Given the description of an element on the screen output the (x, y) to click on. 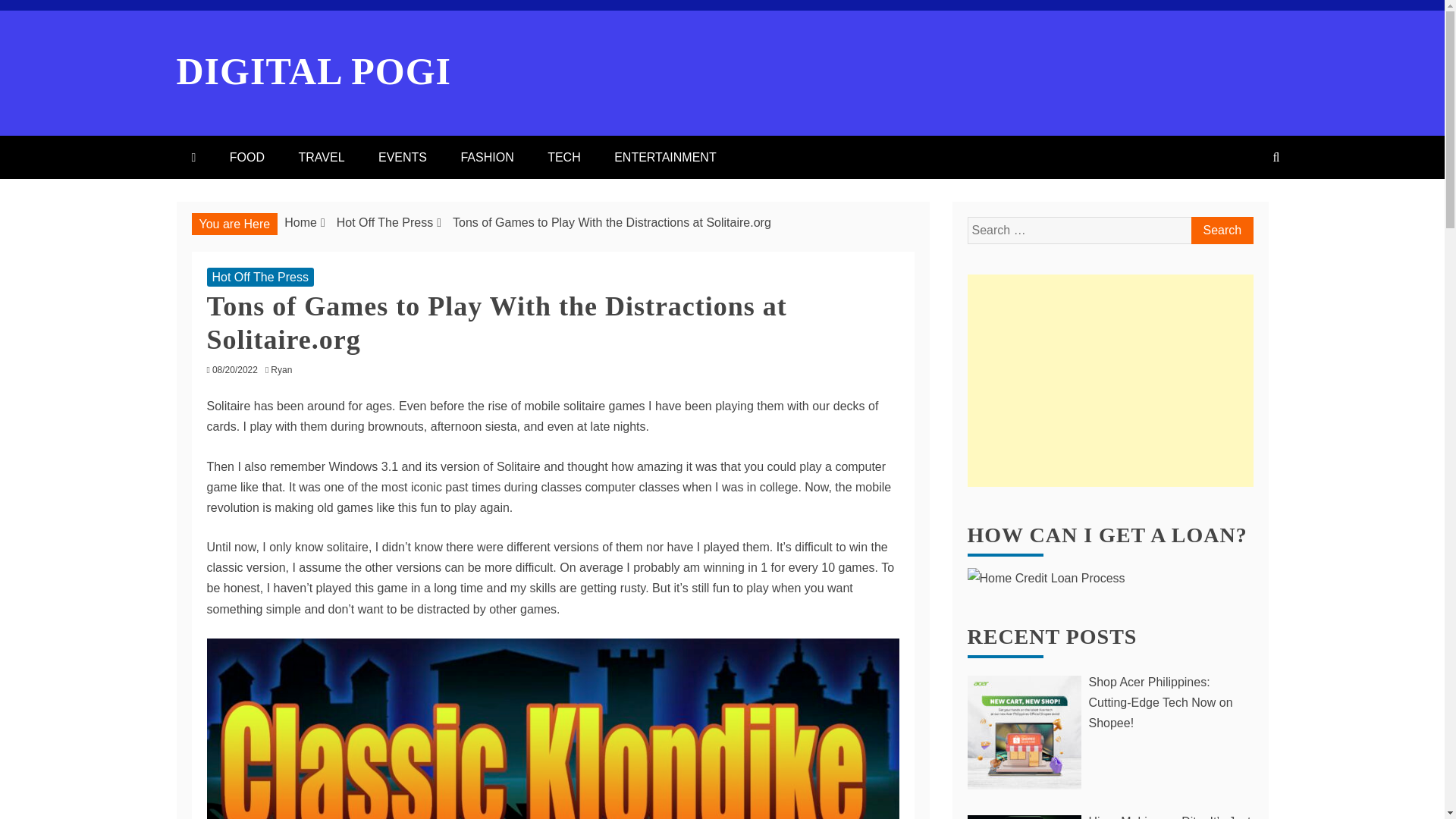
DIGITAL POGI (313, 70)
EVENTS (402, 157)
FOOD (246, 157)
TECH (563, 157)
FASHION (486, 157)
Hot Off The Press (384, 222)
Home (300, 222)
Search (1221, 230)
ENTERTAINMENT (665, 157)
Advertisement (1110, 380)
Ryan (284, 369)
Hot Off The Press (259, 276)
Shop Acer Philippines: Cutting-Edge Tech Now on Shopee! (1110, 702)
Search (1221, 230)
TRAVEL (320, 157)
